Given the description of an element on the screen output the (x, y) to click on. 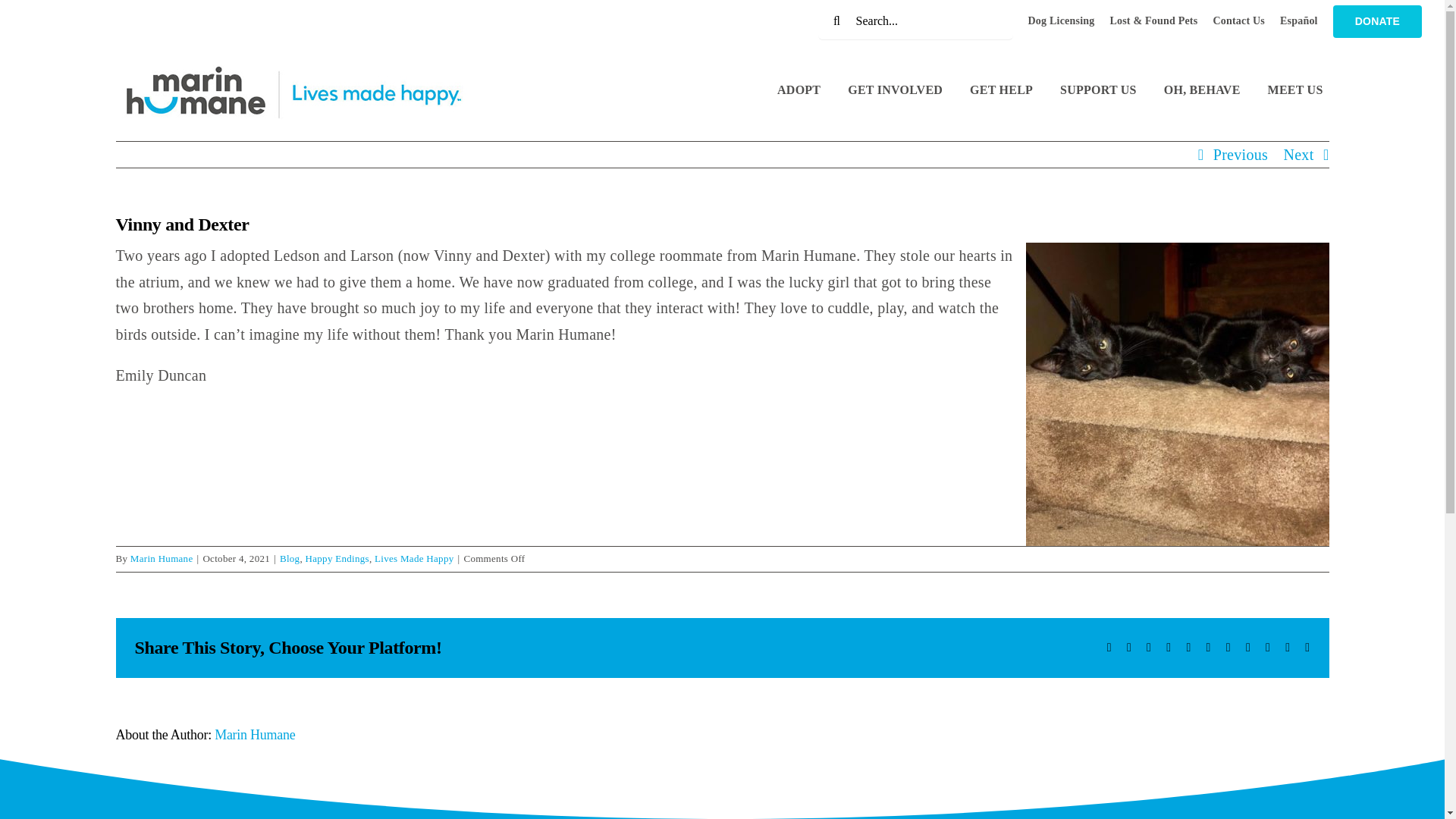
GET INVOLVED (895, 91)
Contact Us (1238, 21)
Dog Licensing (1060, 21)
DONATE (1377, 21)
Posts by Marin Humane (254, 734)
GET HELP (1001, 91)
Posts by Marin Humane (162, 558)
ADOPT (799, 91)
